Given the description of an element on the screen output the (x, y) to click on. 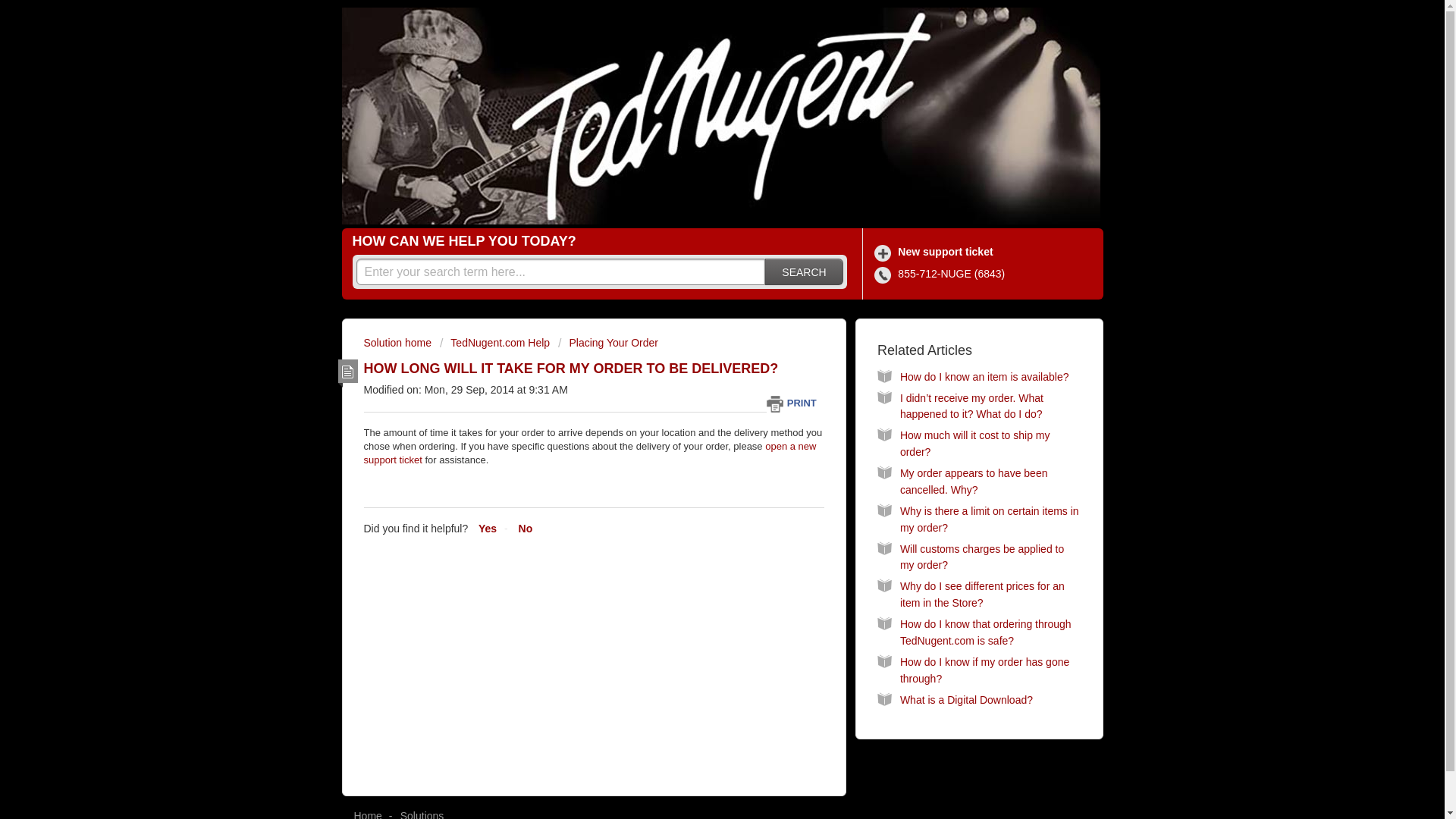
Placing Your Order (607, 342)
Print this Article (795, 402)
New support ticket (935, 252)
How much will it cost to ship my order? (974, 443)
How do I know that ordering through TedNugent.com is safe? (985, 632)
TedNugent.com Help (494, 342)
What is a Digital Download? (965, 699)
Solution home (398, 342)
How do I know if my order has gone through? (983, 670)
Why do I see different prices for an item in the Store? (981, 594)
open a new support ticket (590, 453)
My order appears to have been cancelled. Why? (973, 481)
Solutions (422, 814)
How do I know an item is available? (983, 377)
Home (367, 814)
